Given the description of an element on the screen output the (x, y) to click on. 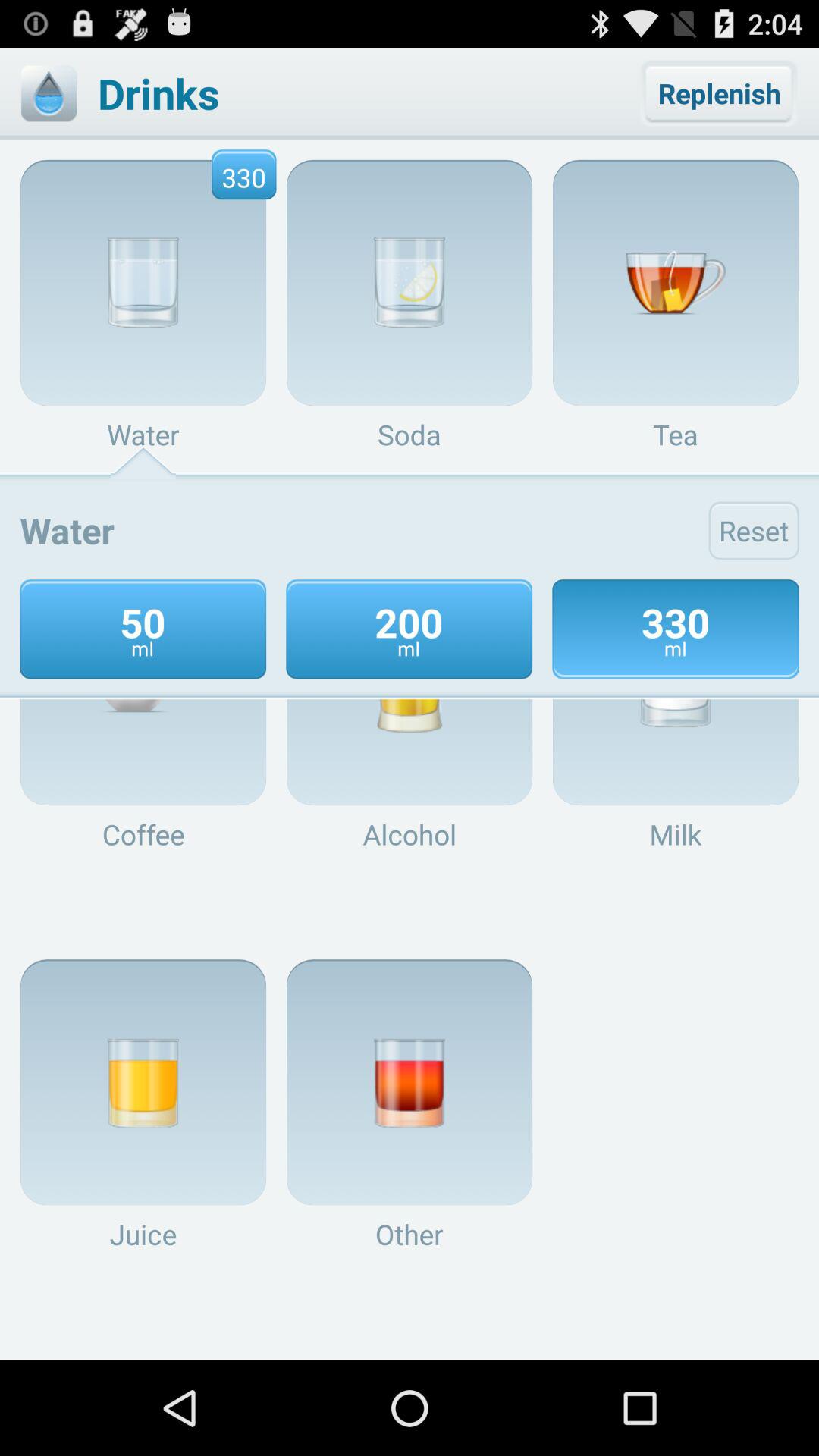
click on the image above other (409, 1082)
click on the image under replenish (675, 283)
click on replenish (719, 93)
click on 200 ml above alcohol (409, 682)
